Given the description of an element on the screen output the (x, y) to click on. 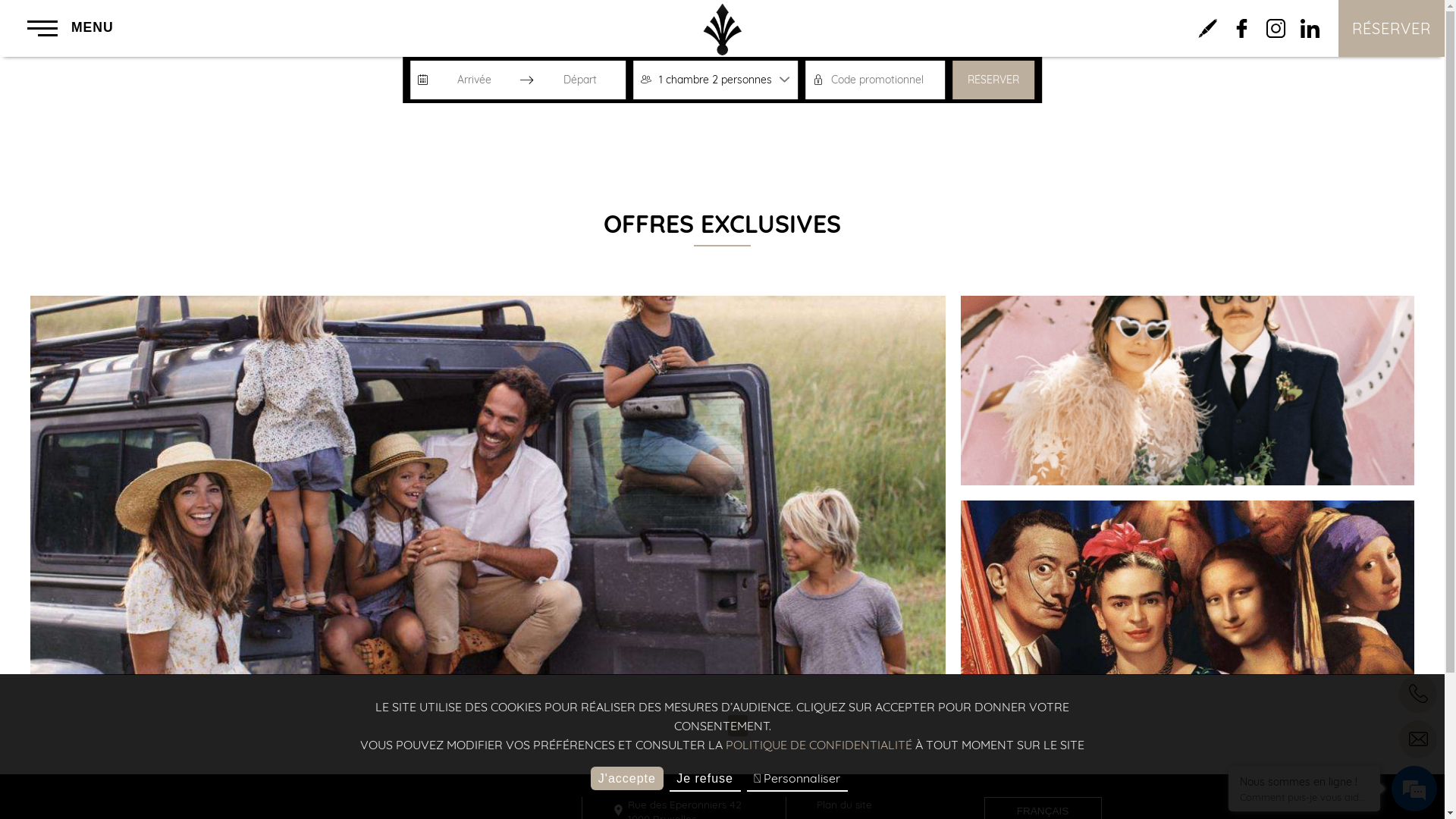
Je refuse Element type: text (704, 778)
J'accepte Element type: text (626, 778)
Plan du site Element type: text (844, 804)
1 Element type: text (737, 725)
MENU Element type: text (70, 27)
